Given the description of an element on the screen output the (x, y) to click on. 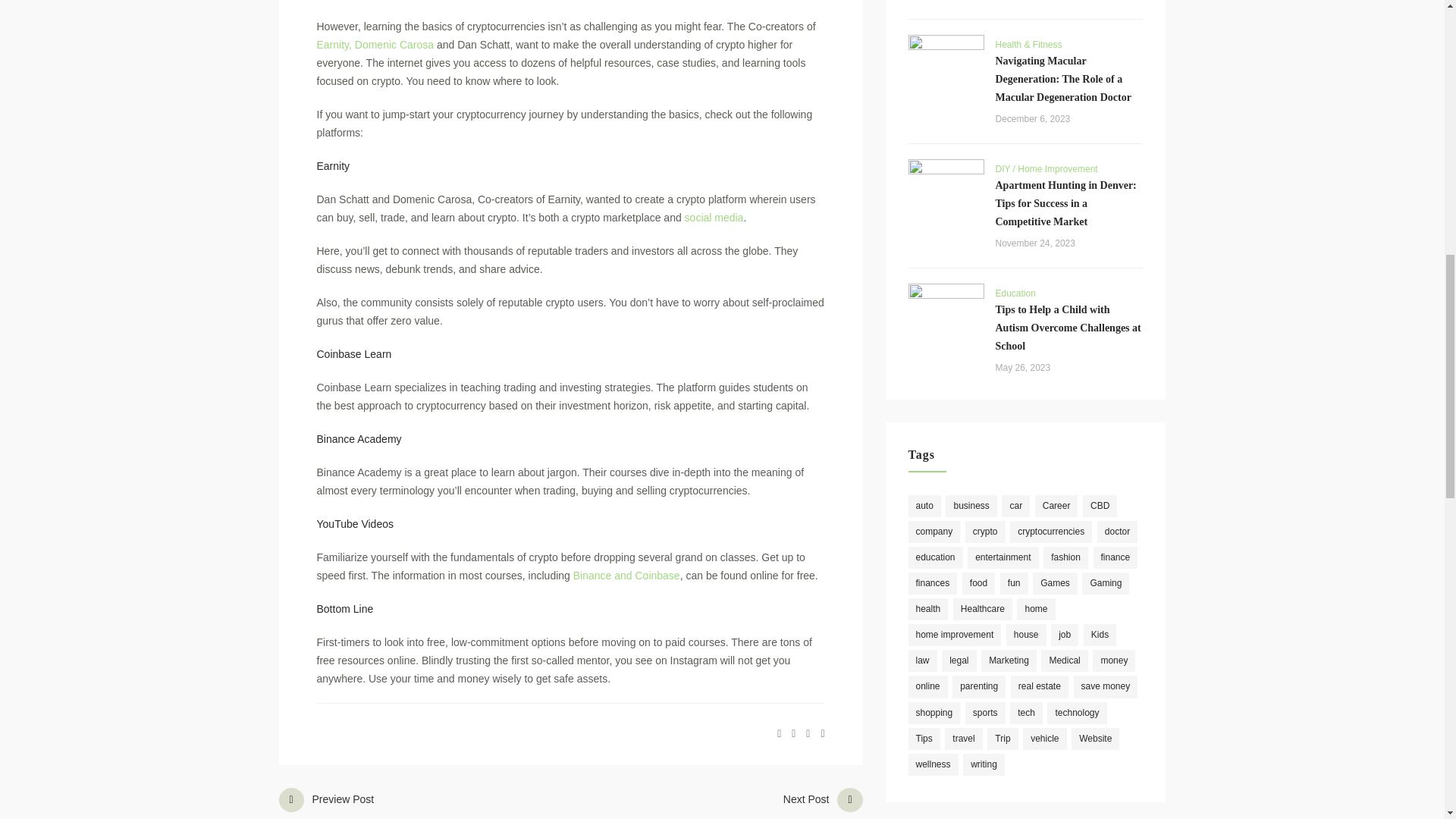
Binance and Coinbase (626, 575)
social media (714, 217)
prev post (381, 801)
next post (381, 801)
Earnity, Domenic Carosa (732, 801)
